Given the description of an element on the screen output the (x, y) to click on. 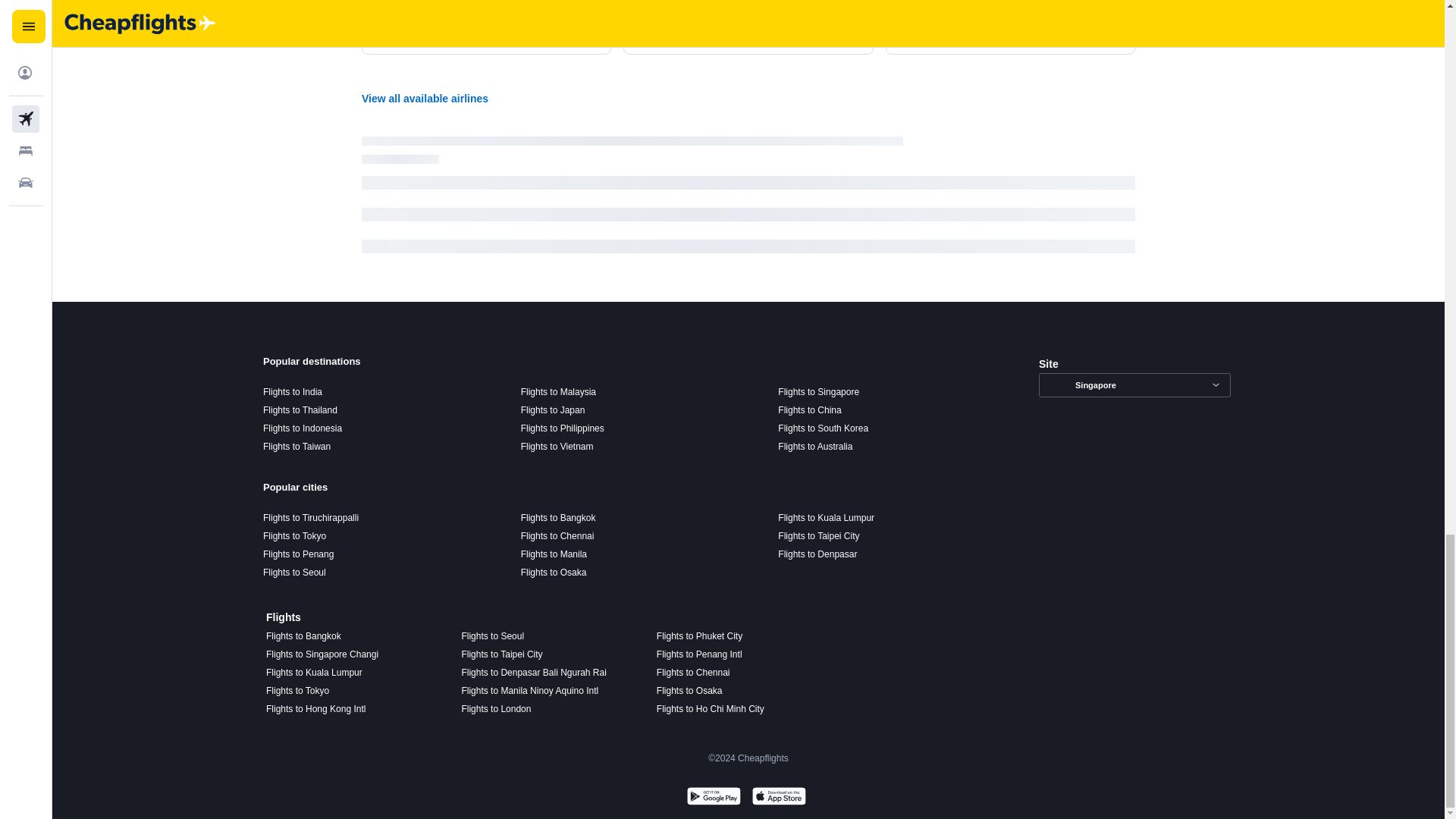
Get it on Google Play (713, 797)
Download on the App Store (778, 797)
